Given the description of an element on the screen output the (x, y) to click on. 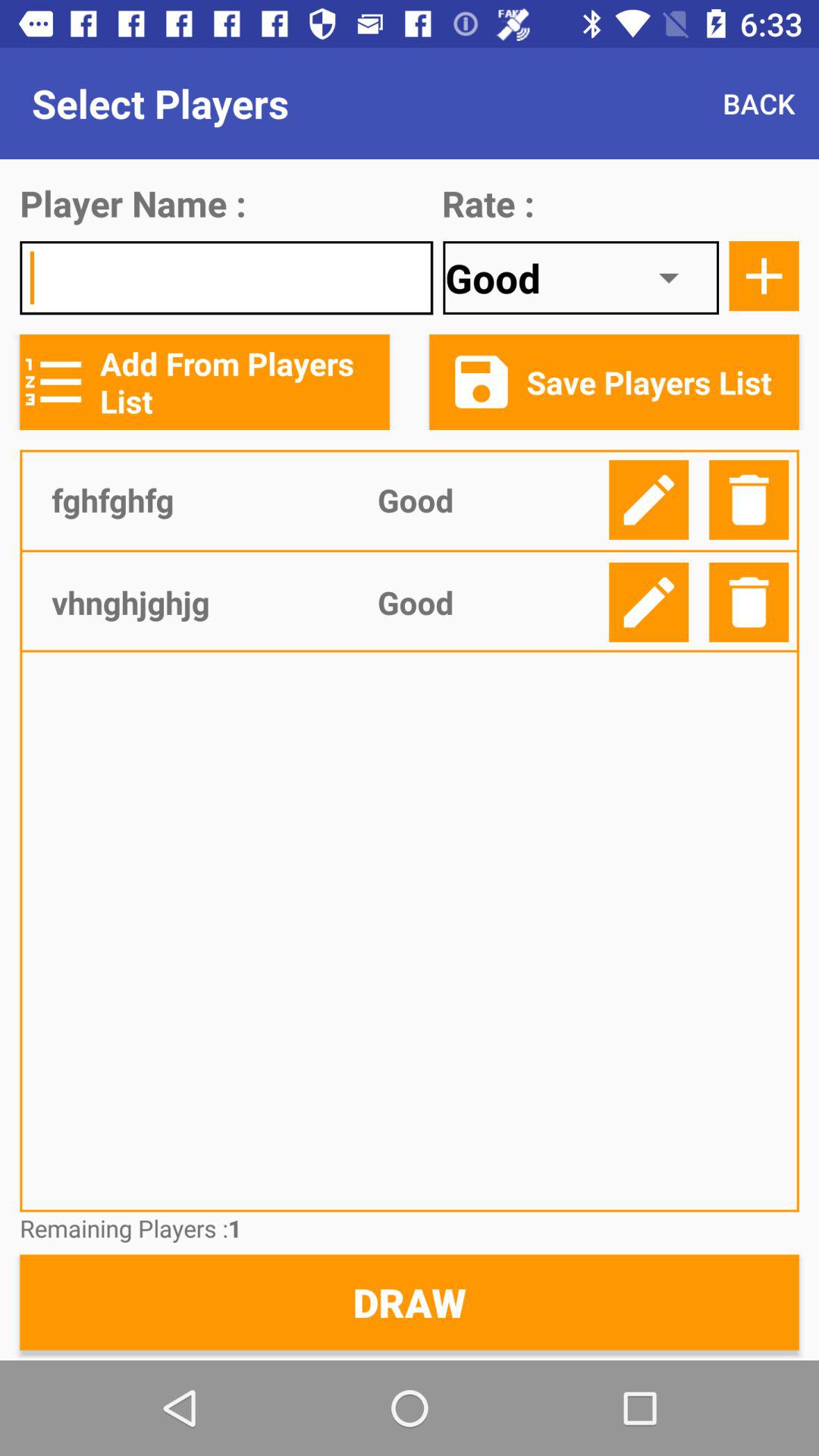
form boxes to write something (225, 277)
